Given the description of an element on the screen output the (x, y) to click on. 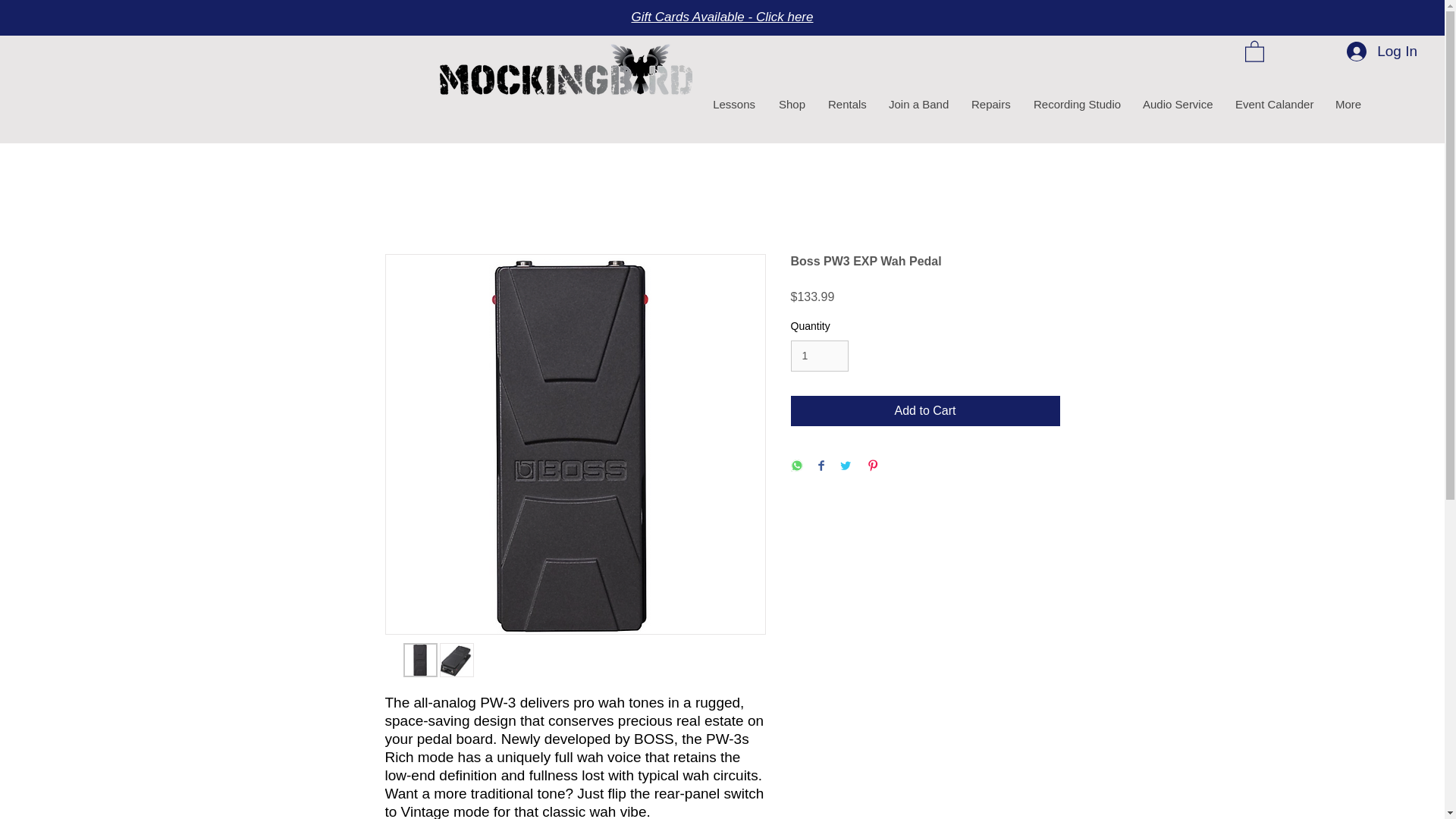
Add to Cart (924, 410)
Join a Band (917, 104)
Rentals (845, 104)
Gift Cards Available - Click here (721, 16)
Audio Service (1177, 104)
Shop (791, 104)
Repairs (990, 104)
Log In (1382, 51)
Event Calander (1273, 104)
1 (818, 355)
Recording Studio (1076, 104)
Lessons (734, 104)
